Given the description of an element on the screen output the (x, y) to click on. 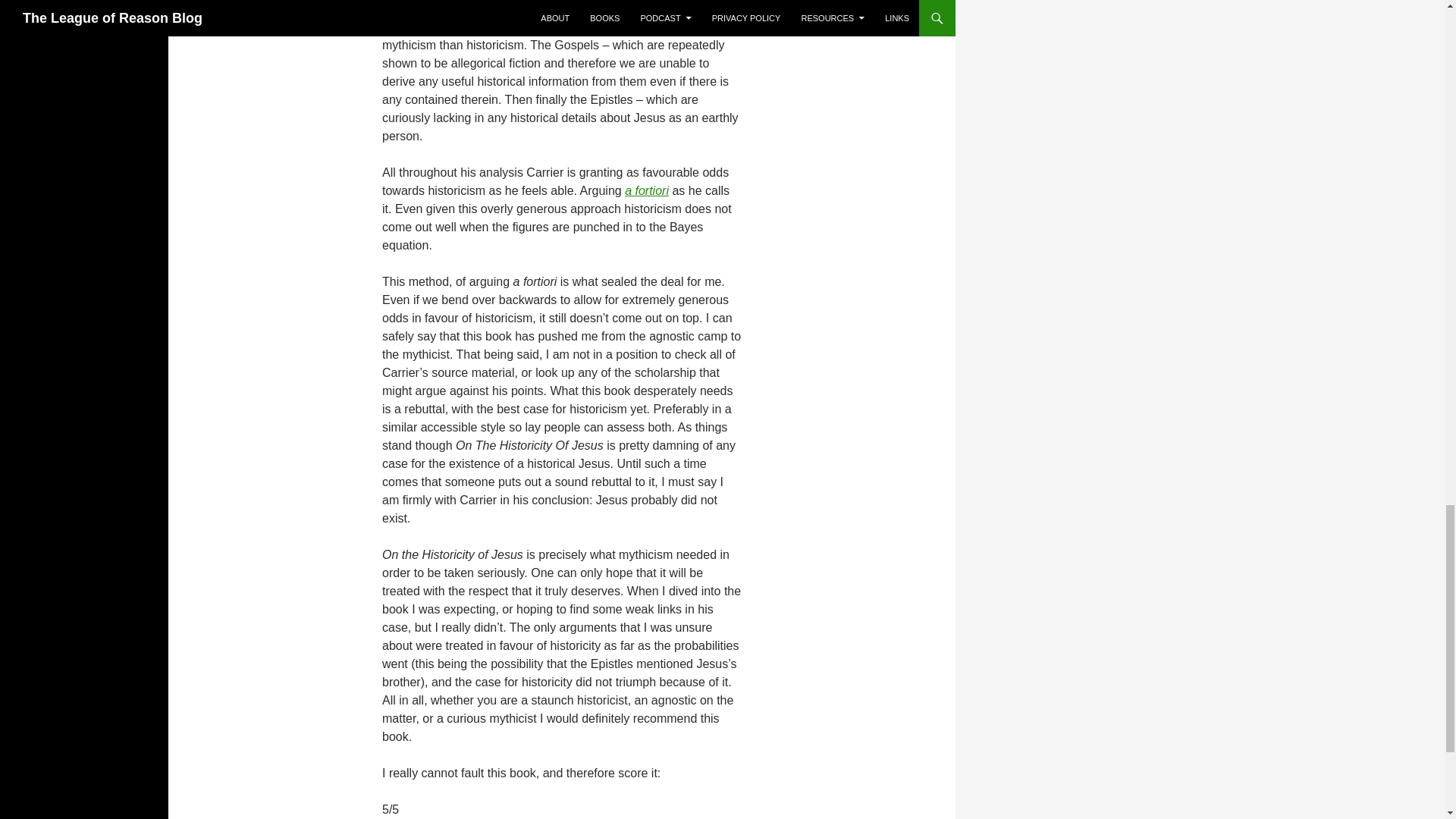
a fortiori (646, 190)
